Given the description of an element on the screen output the (x, y) to click on. 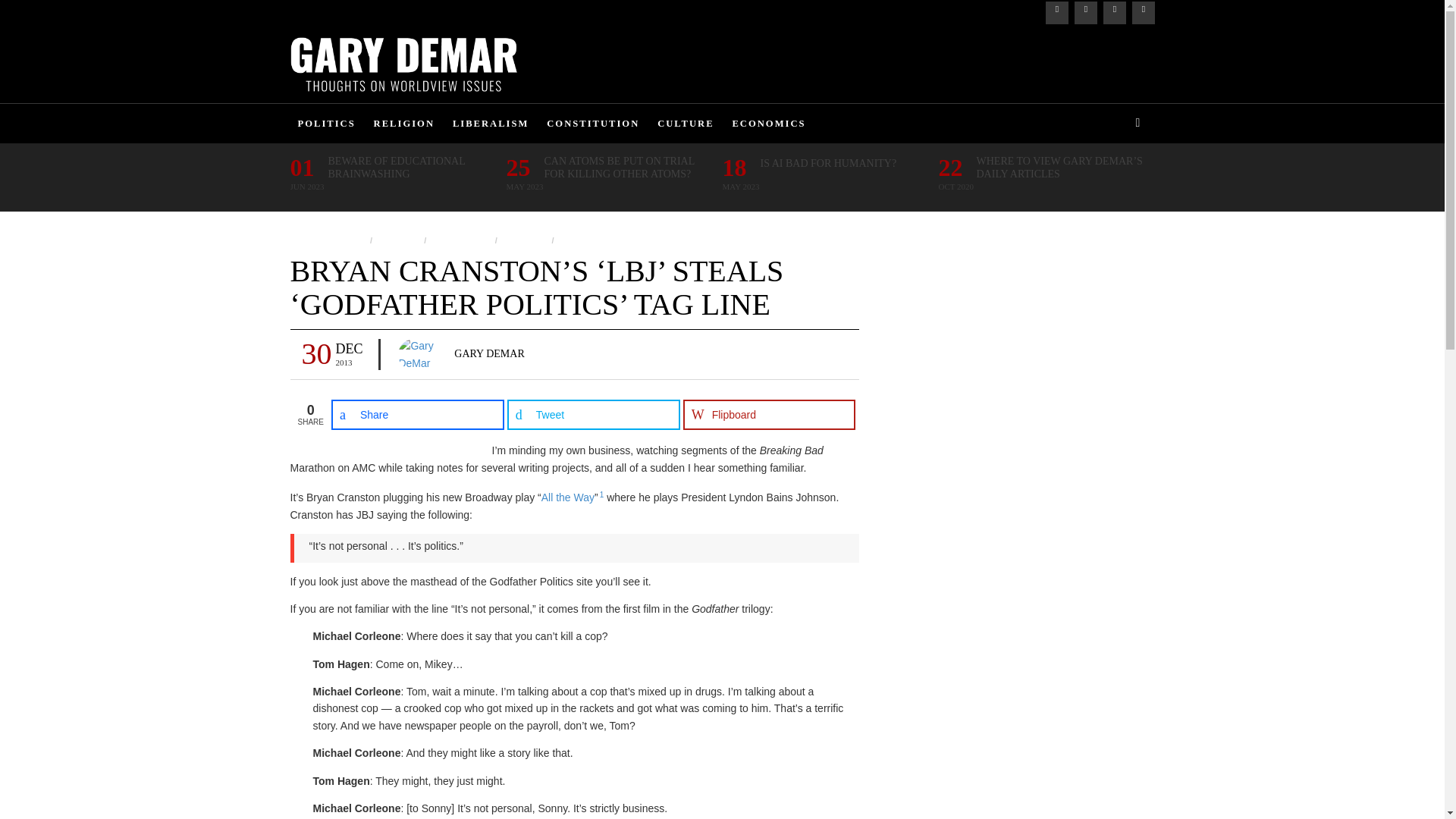
View all posts in Liberalism (458, 240)
RELIGION (404, 123)
POLITICS (325, 123)
Facebook (1056, 12)
CONTACT (447, 8)
IS AI BAD FOR HUMANITY? (828, 163)
View all posts by Gary DeMar (489, 353)
CONSTITUTION (592, 123)
CULTURE (684, 123)
RELIGION (579, 240)
